Given the description of an element on the screen output the (x, y) to click on. 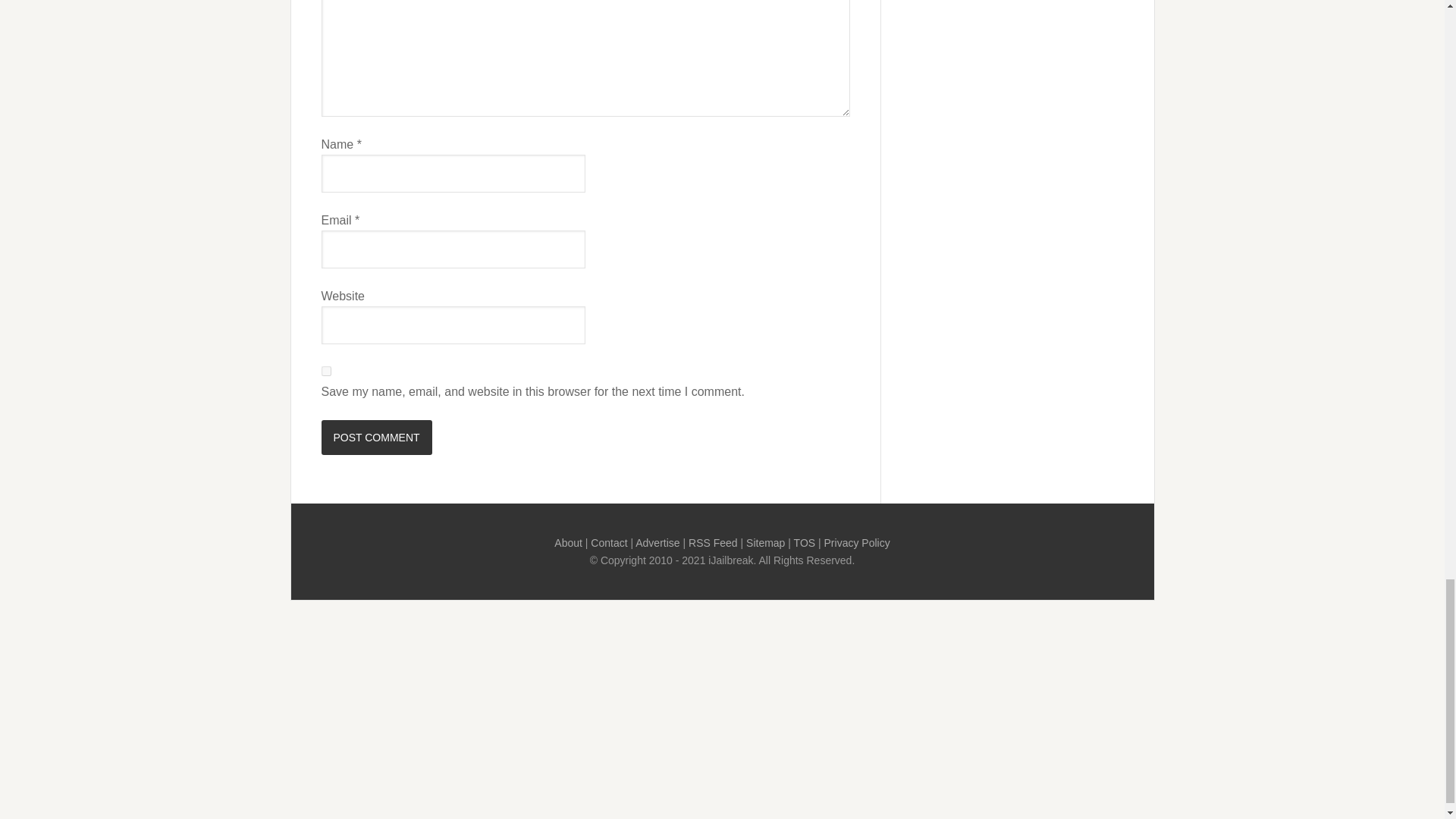
Post Comment (376, 437)
yes (326, 370)
